Given the description of an element on the screen output the (x, y) to click on. 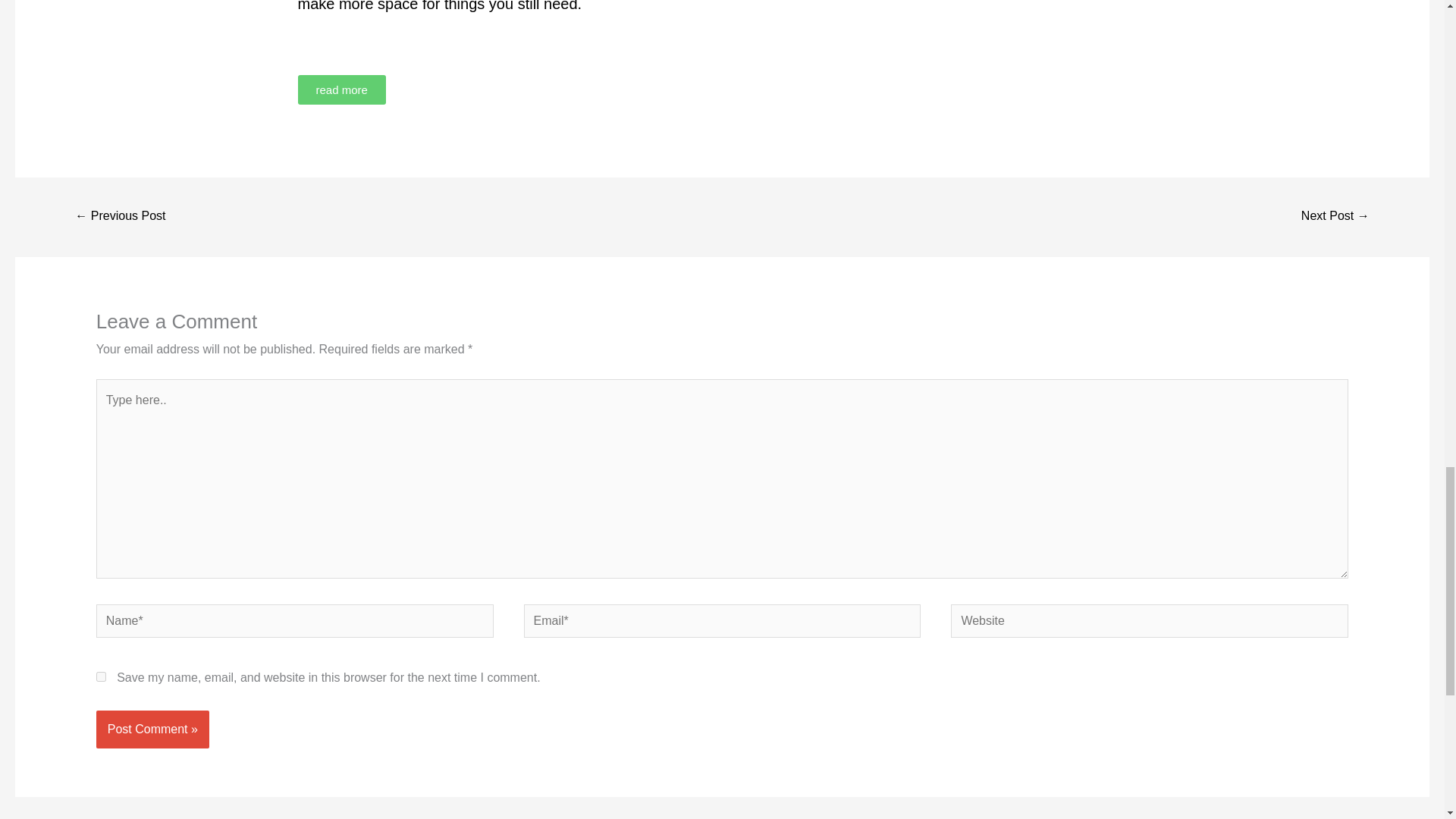
Montreal Office Cleaning Services (119, 216)
Office cleaning Services Montreal (1334, 216)
yes (101, 676)
